Given the description of an element on the screen output the (x, y) to click on. 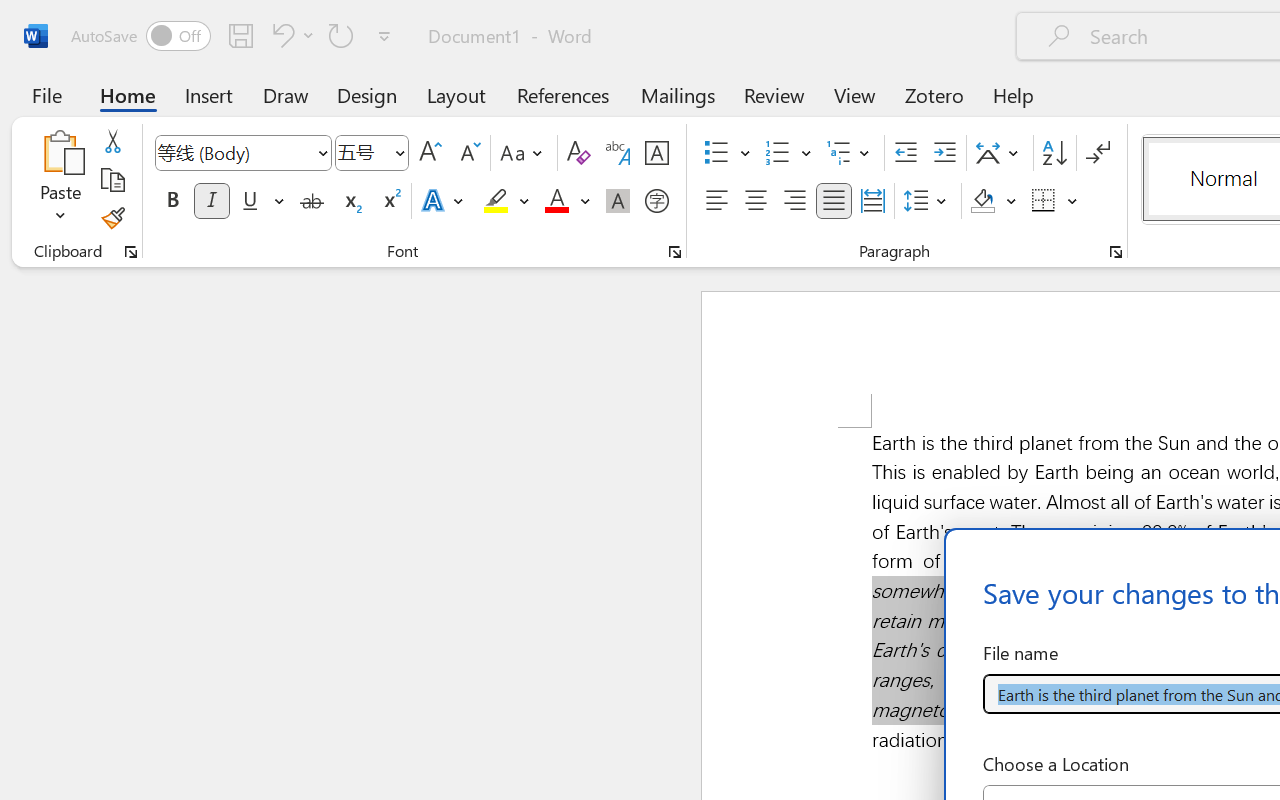
Character Shading (618, 201)
Open (399, 152)
Italic (212, 201)
Copy (112, 179)
Increase Indent (944, 153)
Strikethrough (312, 201)
Subscript (350, 201)
Font Color (567, 201)
Sort... (1054, 153)
